Given the description of an element on the screen output the (x, y) to click on. 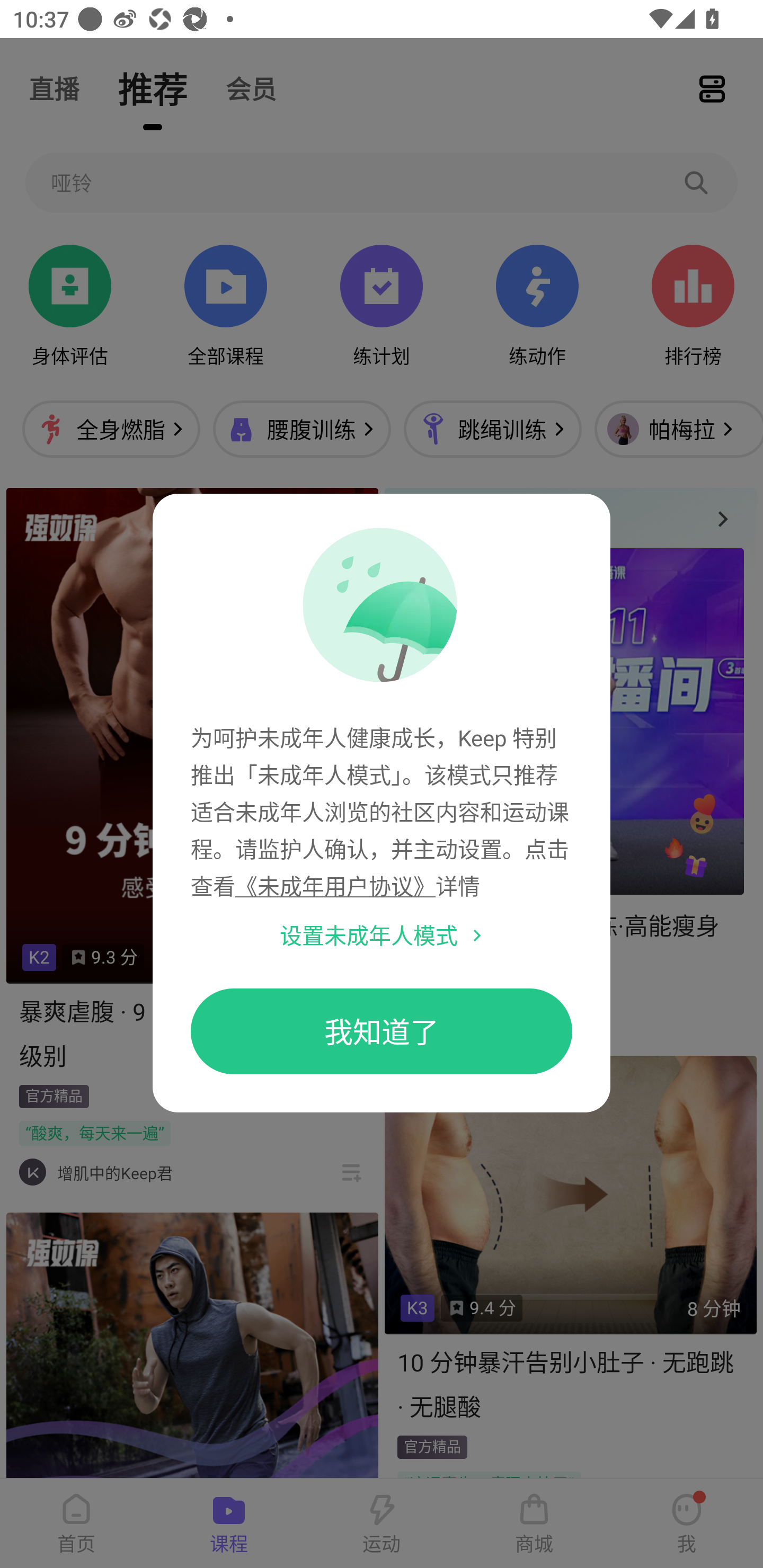
设置未成年人模式 (368, 935)
我知道了 (381, 1030)
